Given the description of an element on the screen output the (x, y) to click on. 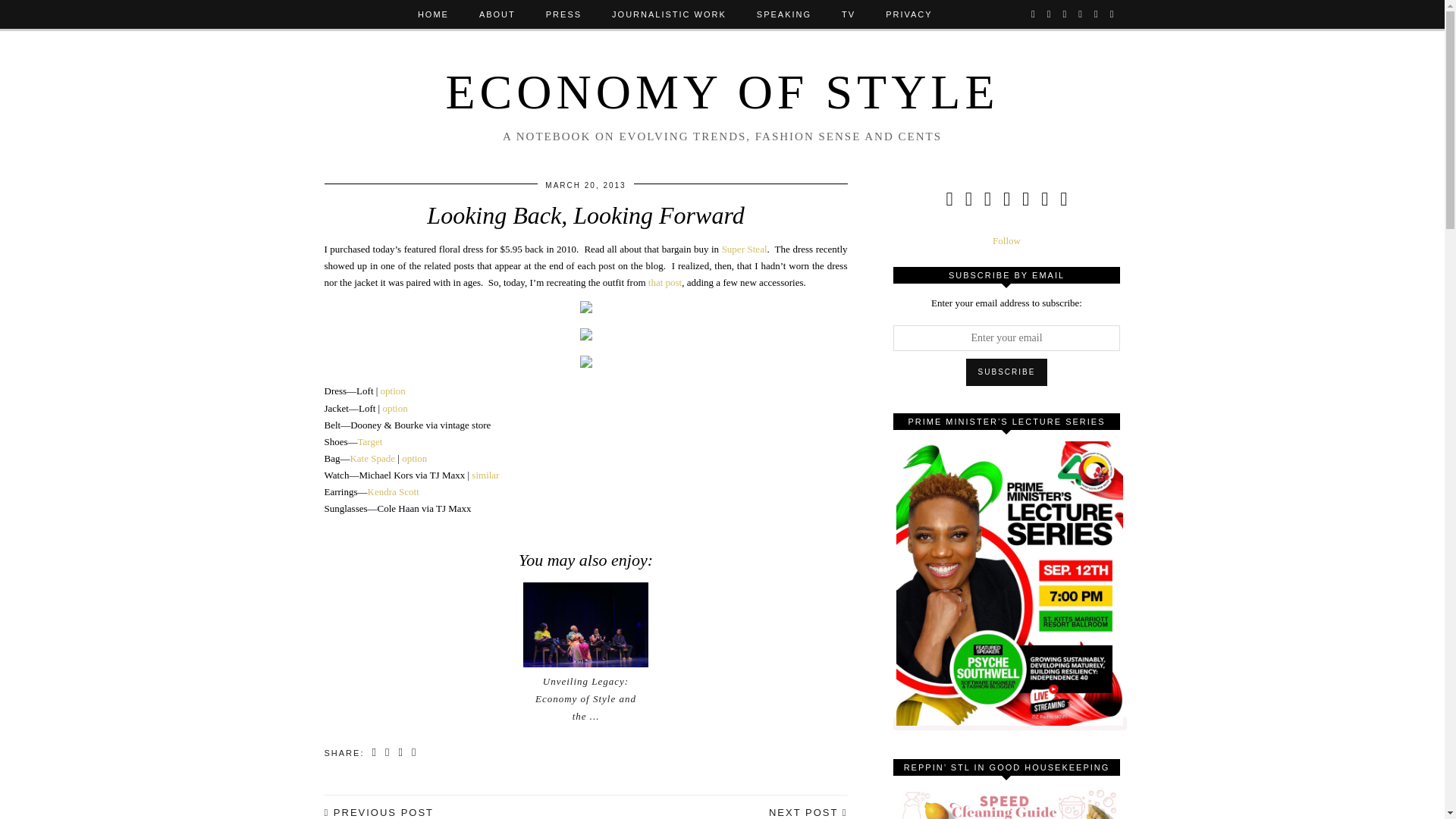
TV (848, 14)
Subscribe (1007, 371)
SPEAKING (784, 14)
JOURNALISTIC WORK (668, 14)
Economy of Style (721, 91)
that post (664, 282)
Super Steal (744, 248)
ABOUT (497, 14)
PRIVACY (908, 14)
PRESS (563, 14)
HOME (433, 14)
ECONOMY OF STYLE (721, 91)
